Given the description of an element on the screen output the (x, y) to click on. 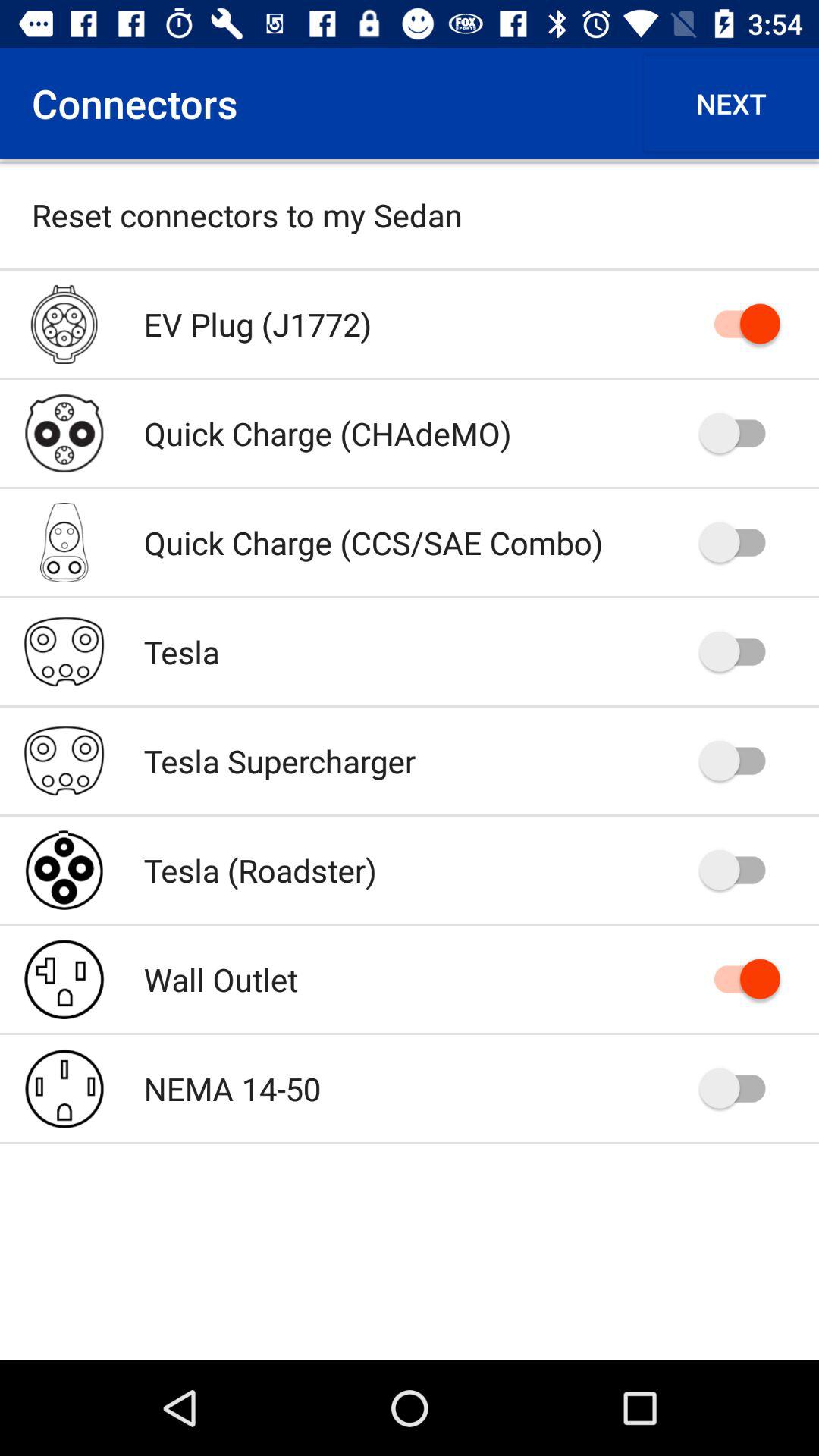
jump until next icon (731, 103)
